Given the description of an element on the screen output the (x, y) to click on. 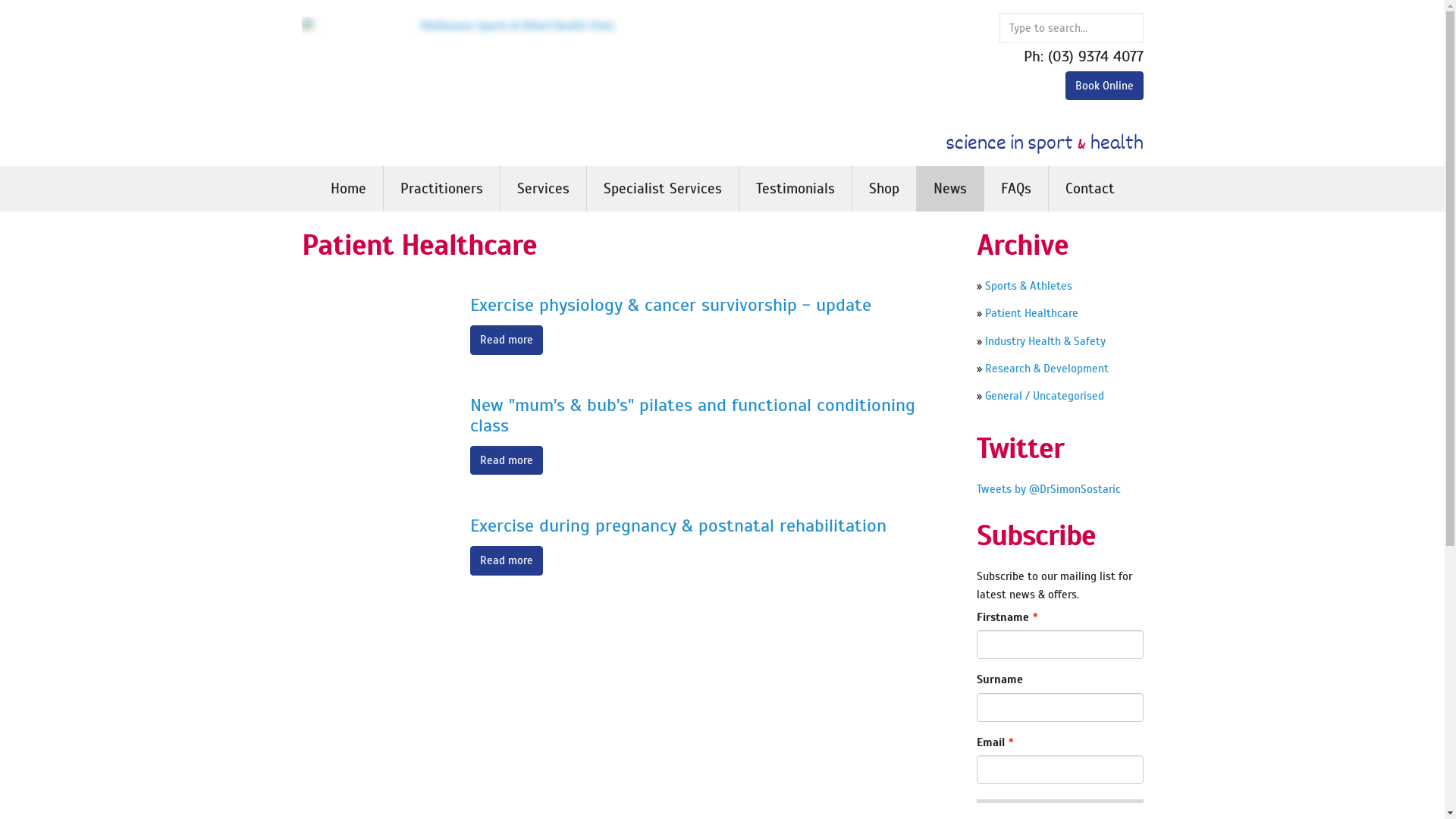
Shop Element type: text (884, 188)
Services Element type: text (543, 188)
Read more Element type: text (506, 459)
Industry Health & Safety Element type: text (1044, 341)
News Element type: text (949, 188)
(03) 9374 4077 Element type: text (1095, 56)
Research & Development Element type: text (1045, 368)
FAQs Element type: text (1016, 188)
Read more Element type: text (506, 339)
Exercise physiology & cancer survivorship - update Element type: text (670, 304)
Book Online Element type: text (1103, 85)
Specialist Services Element type: text (662, 188)
Read more Element type: text (506, 560)
General / Uncategorised Element type: text (1042, 395)
Tweets by @DrSimonSostaric Element type: text (1048, 488)
Contact Element type: text (1089, 188)
Patient Healthcare Element type: text (1029, 313)
Exercise during pregnancy & postnatal rehabilitation Element type: text (678, 525)
Sports & Athletes Element type: text (1026, 285)
Testimonials Element type: text (794, 188)
Home Element type: text (347, 188)
Practitioners Element type: text (441, 188)
